Given the description of an element on the screen output the (x, y) to click on. 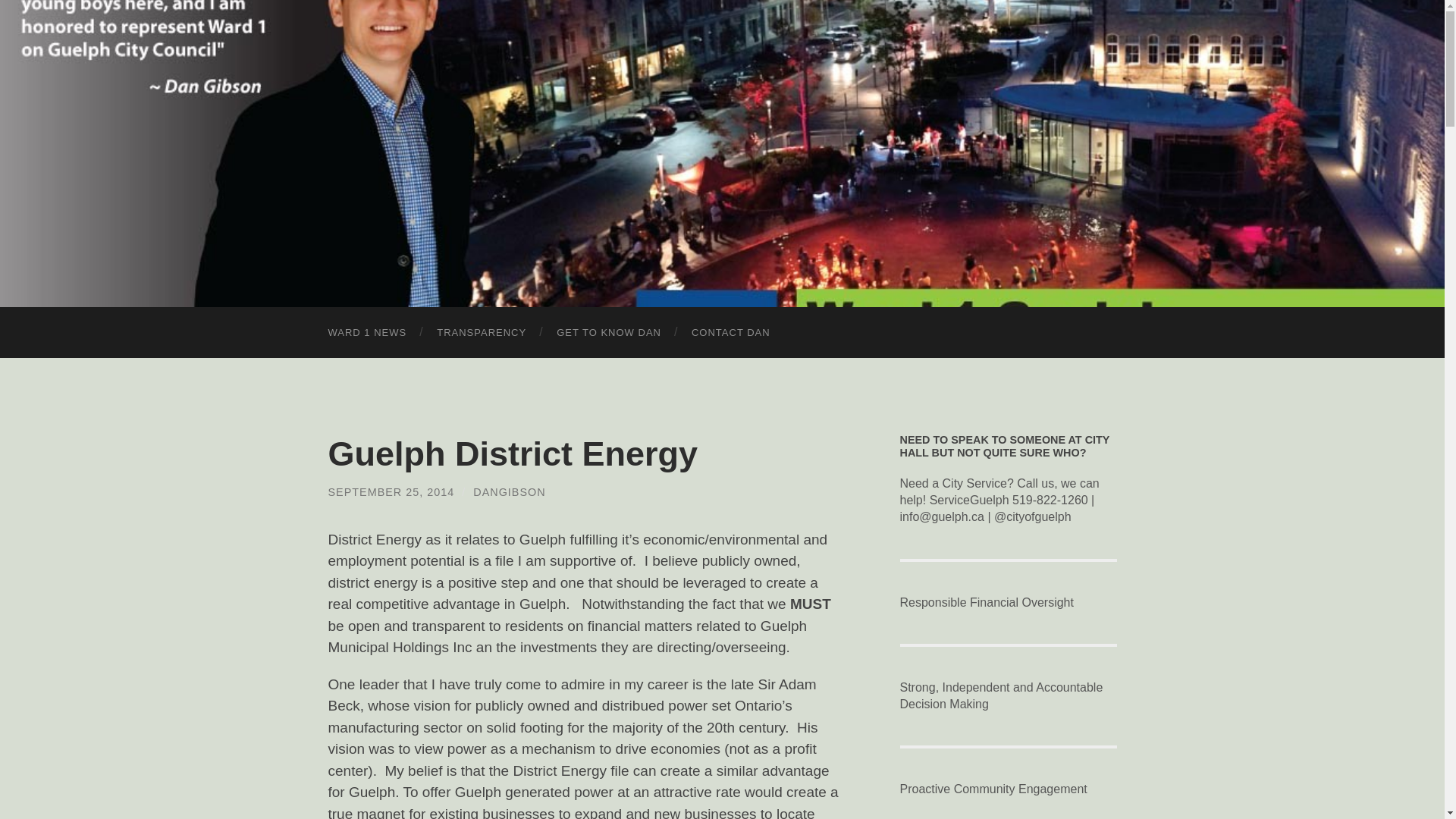
Posts by DanGibson (508, 491)
City Council (481, 332)
TRANSPARENCY (481, 332)
CONTACT DAN (731, 332)
Ward 1 Guelph (721, 151)
GET TO KNOW DAN (609, 332)
DANGIBSON (508, 491)
SEPTEMBER 25, 2014 (390, 491)
WARD 1 NEWS (367, 332)
